Given the description of an element on the screen output the (x, y) to click on. 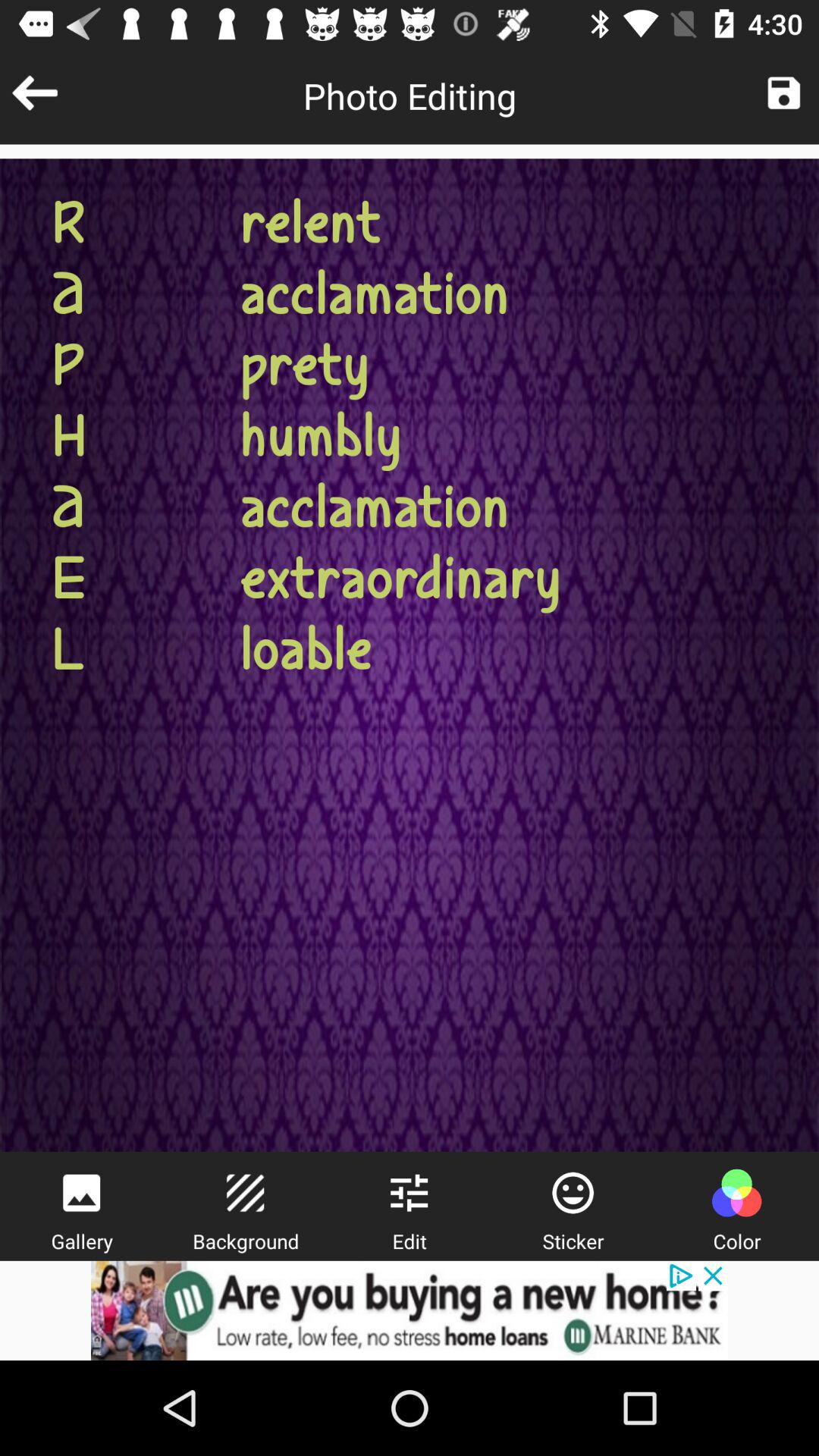
edit background (245, 1192)
